Given the description of an element on the screen output the (x, y) to click on. 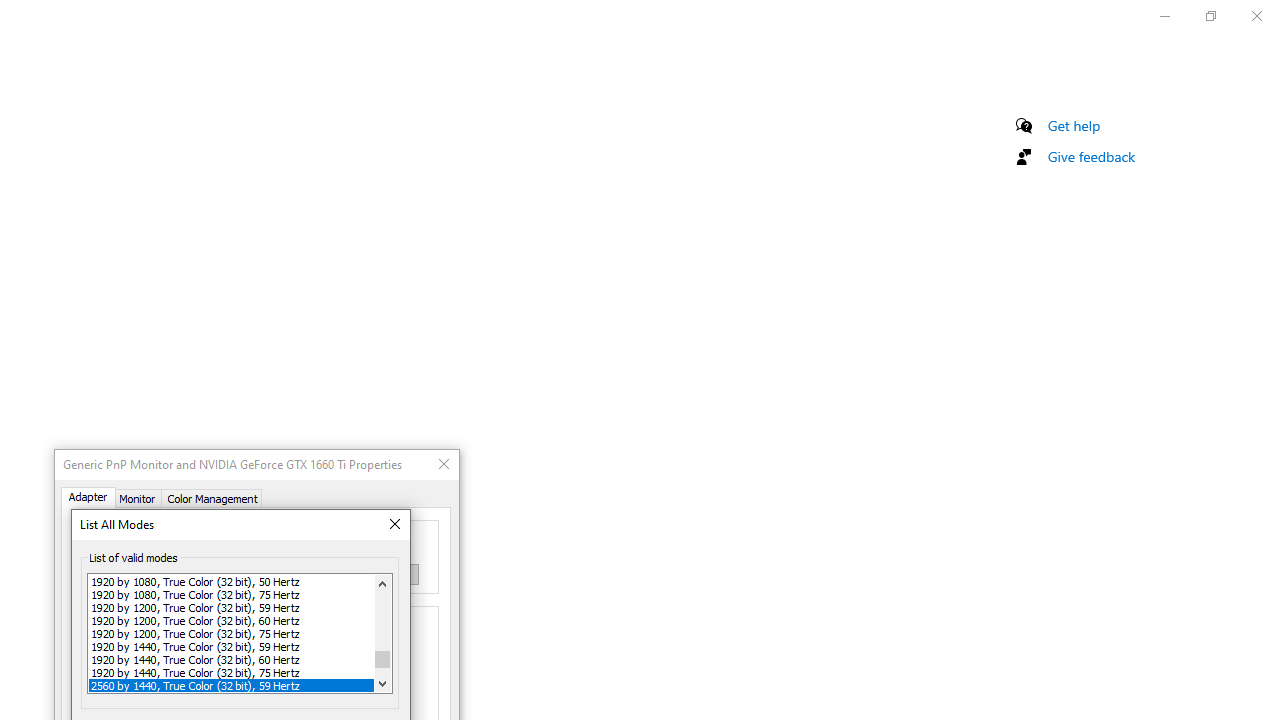
1920 by 1440, True Color (32 bit), 60 Hertz (231, 659)
1920 by 1200, True Color (32 bit), 75 Hertz (231, 633)
Line up (381, 583)
Close (393, 524)
1920 by 1200, True Color (32 bit), 60 Hertz (231, 620)
1920 by 1440, True Color (32 bit), 75 Hertz (231, 672)
1920 by 1080, True Color (32 bit), 50 Hertz (231, 581)
1920 by 1440, True Color (32 bit), 59 Hertz (231, 646)
1920 by 1200, True Color (32 bit), 59 Hertz (231, 607)
Vertical (381, 633)
Page down (381, 670)
2560 by 1440, True Color (32 bit), 59 Hertz (231, 684)
Line down (381, 683)
1920 by 1080, True Color (32 bit), 75 Hertz (231, 594)
Page up (381, 622)
